Given the description of an element on the screen output the (x, y) to click on. 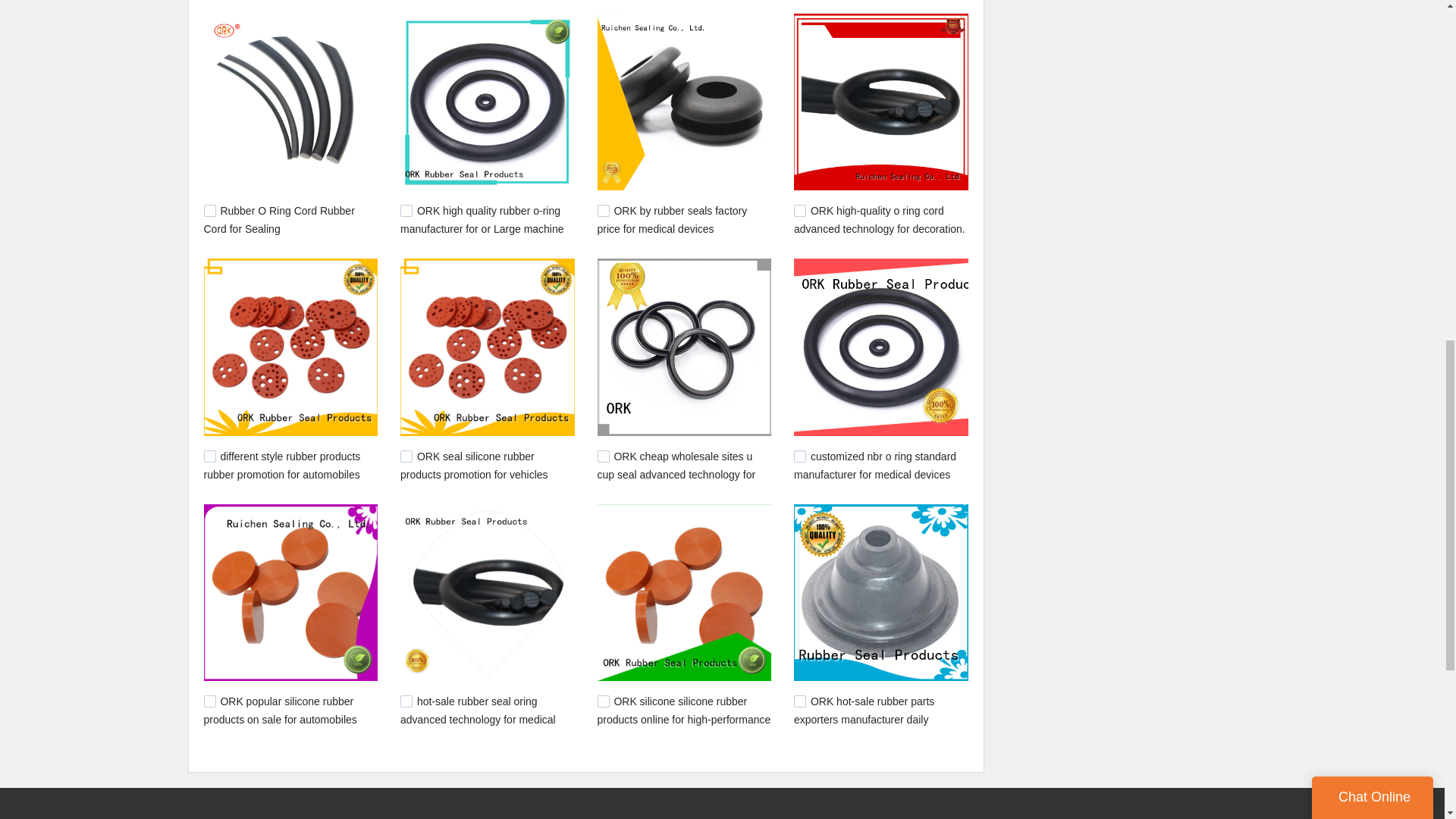
810 (799, 456)
ORK by rubber seals factory price for medical devices (672, 219)
ORK popular silicone rubber products on sale for automobiles (279, 710)
Rubber O Ring Cord Rubber Cord for Sealing (278, 219)
ORK by rubber seals factory price for medical devices (672, 219)
868 (603, 210)
850 (406, 456)
771 (209, 701)
591 (603, 701)
836 (603, 456)
ORK seal silicone rubber products promotion for vehicles (474, 465)
